Given the description of an element on the screen output the (x, y) to click on. 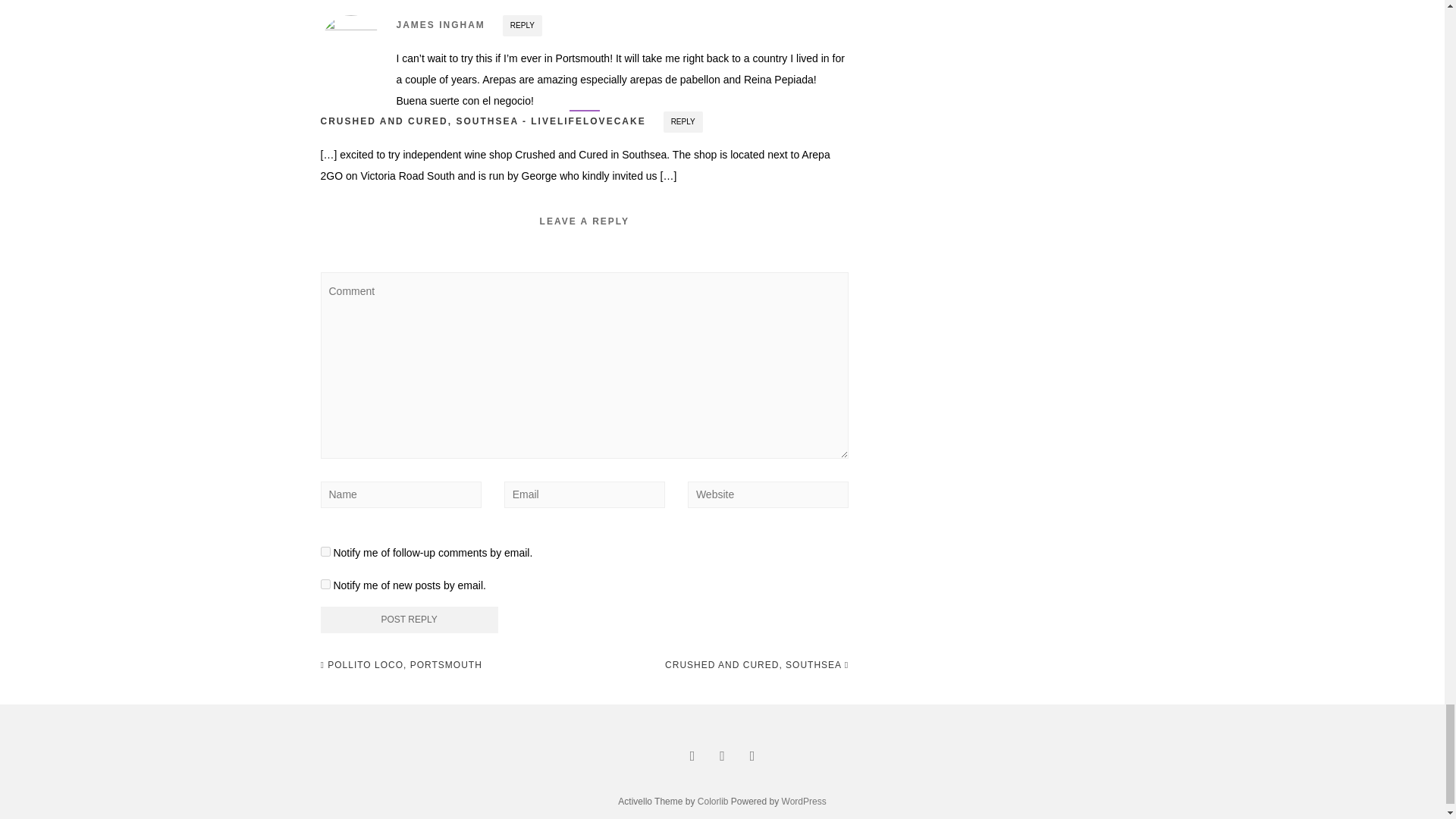
subscribe (325, 551)
Post Reply (408, 619)
subscribe (325, 583)
